Given the description of an element on the screen output the (x, y) to click on. 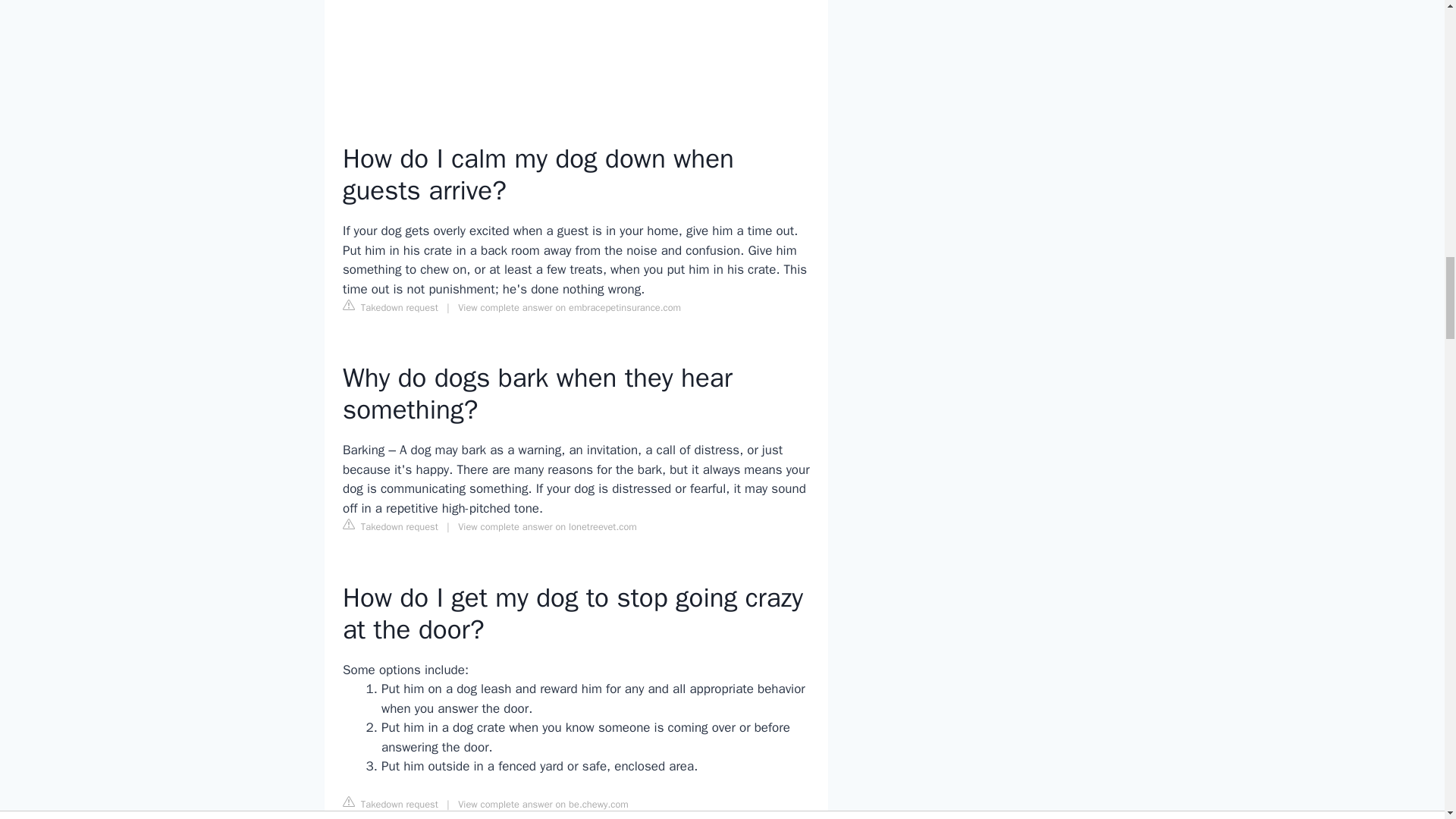
View complete answer on embracepetinsurance.com (569, 307)
View complete answer on lonetreevet.com (547, 526)
View complete answer on be.chewy.com (543, 804)
Takedown request (390, 525)
Why Do Dogs Bark When the Doorbell Rings? : Dog Training  (575, 52)
Takedown request (390, 803)
Takedown request (390, 306)
